Given the description of an element on the screen output the (x, y) to click on. 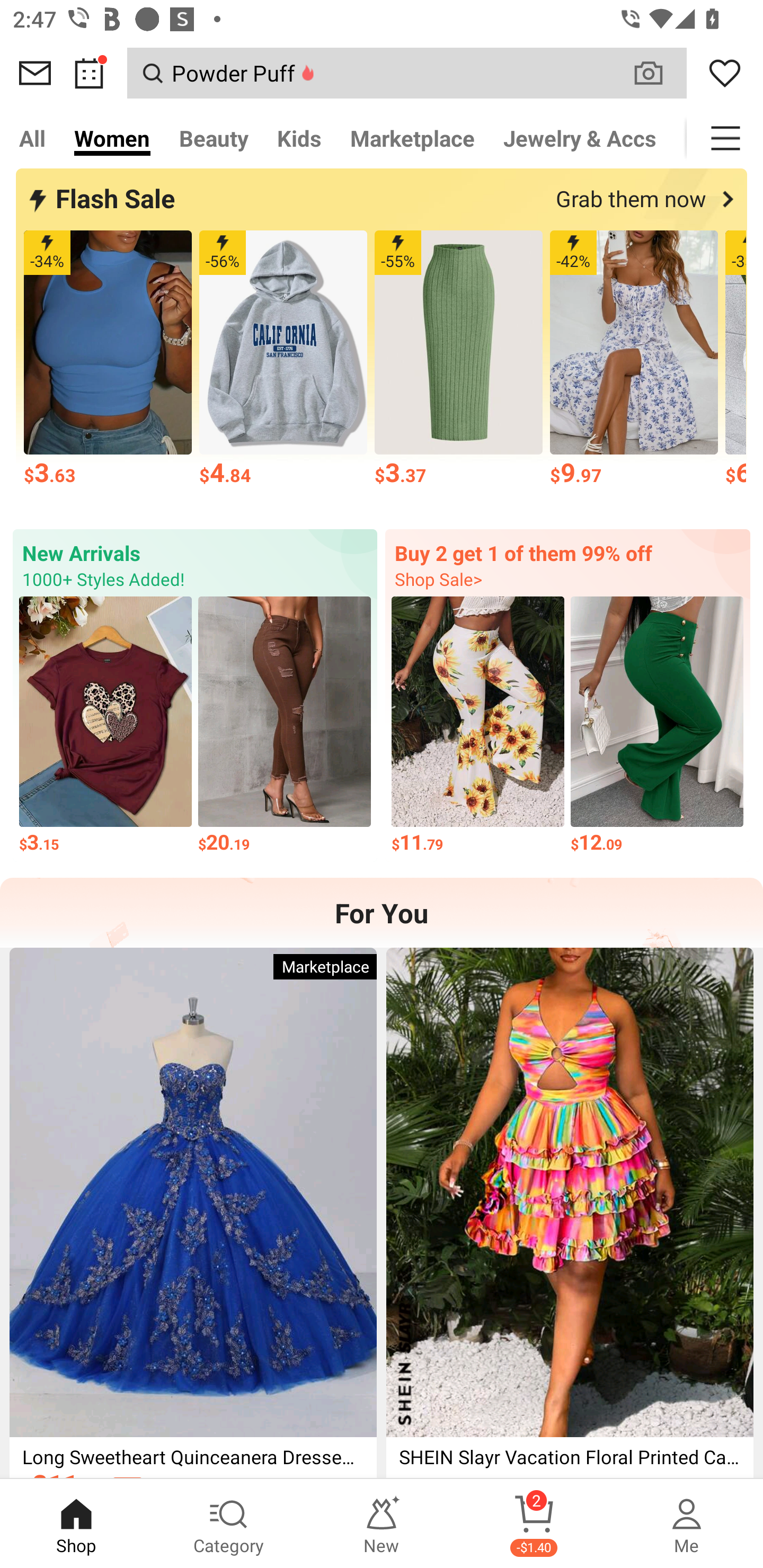
Wishlist (724, 72)
VISUAL SEARCH (657, 72)
All (31, 137)
Women (111, 137)
Beauty (213, 137)
Kids (298, 137)
Marketplace (412, 137)
Jewelry & Accs (580, 137)
$3.15 Price $3.15 (105, 725)
$20.19 Price $20.19 (284, 725)
$11.79 Price $11.79 (477, 725)
$12.09 Price $12.09 (656, 725)
SHEIN Slayr Vacation Floral Printed Cami Dress (569, 1212)
Category (228, 1523)
New (381, 1523)
Cart 2 -$1.40 (533, 1523)
Me (686, 1523)
